Given the description of an element on the screen output the (x, y) to click on. 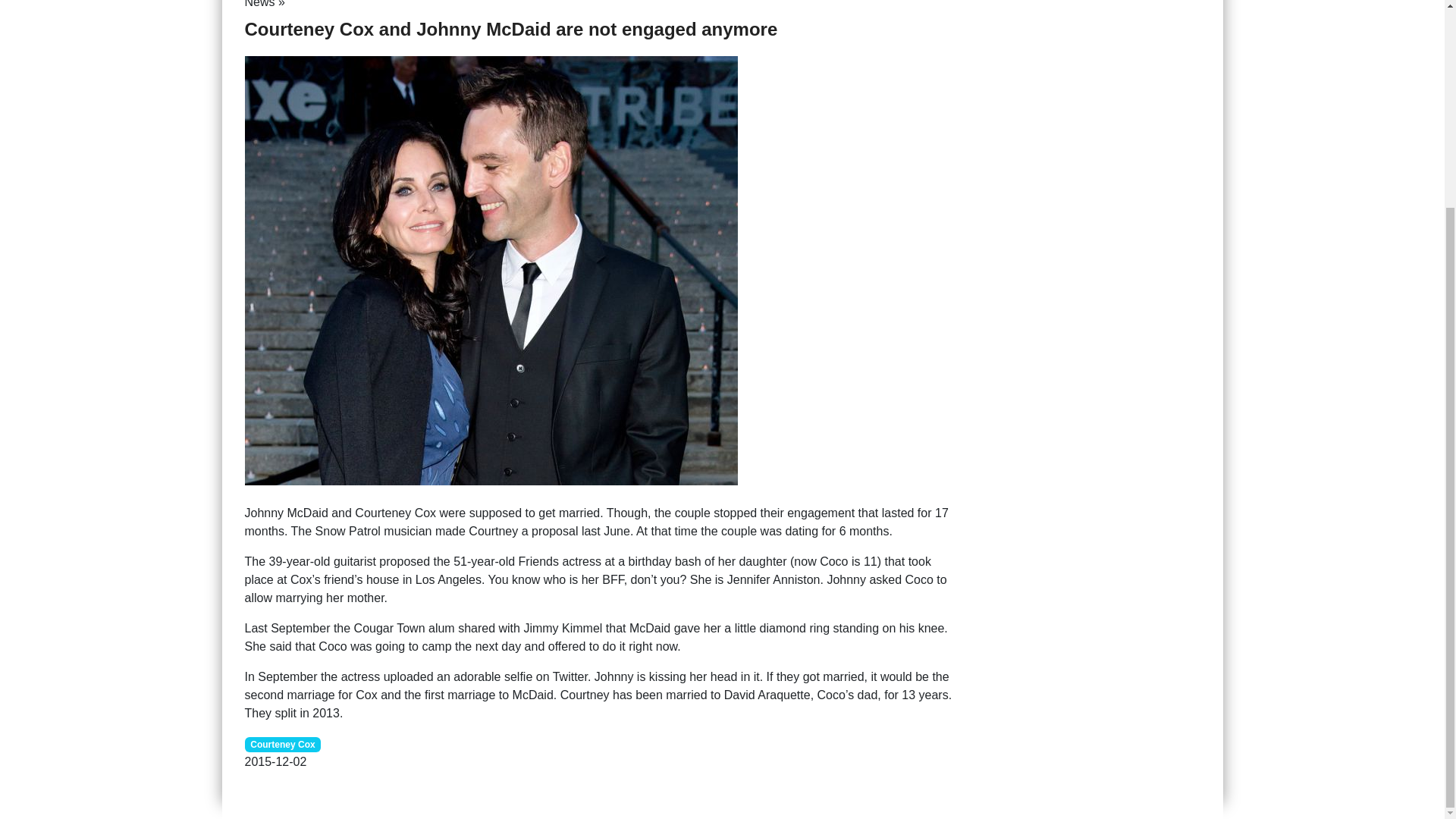
Courteney Cox and Johnny McDaid are not engaged anymore (490, 269)
News (259, 4)
Courteney Cox (282, 743)
